Given the description of an element on the screen output the (x, y) to click on. 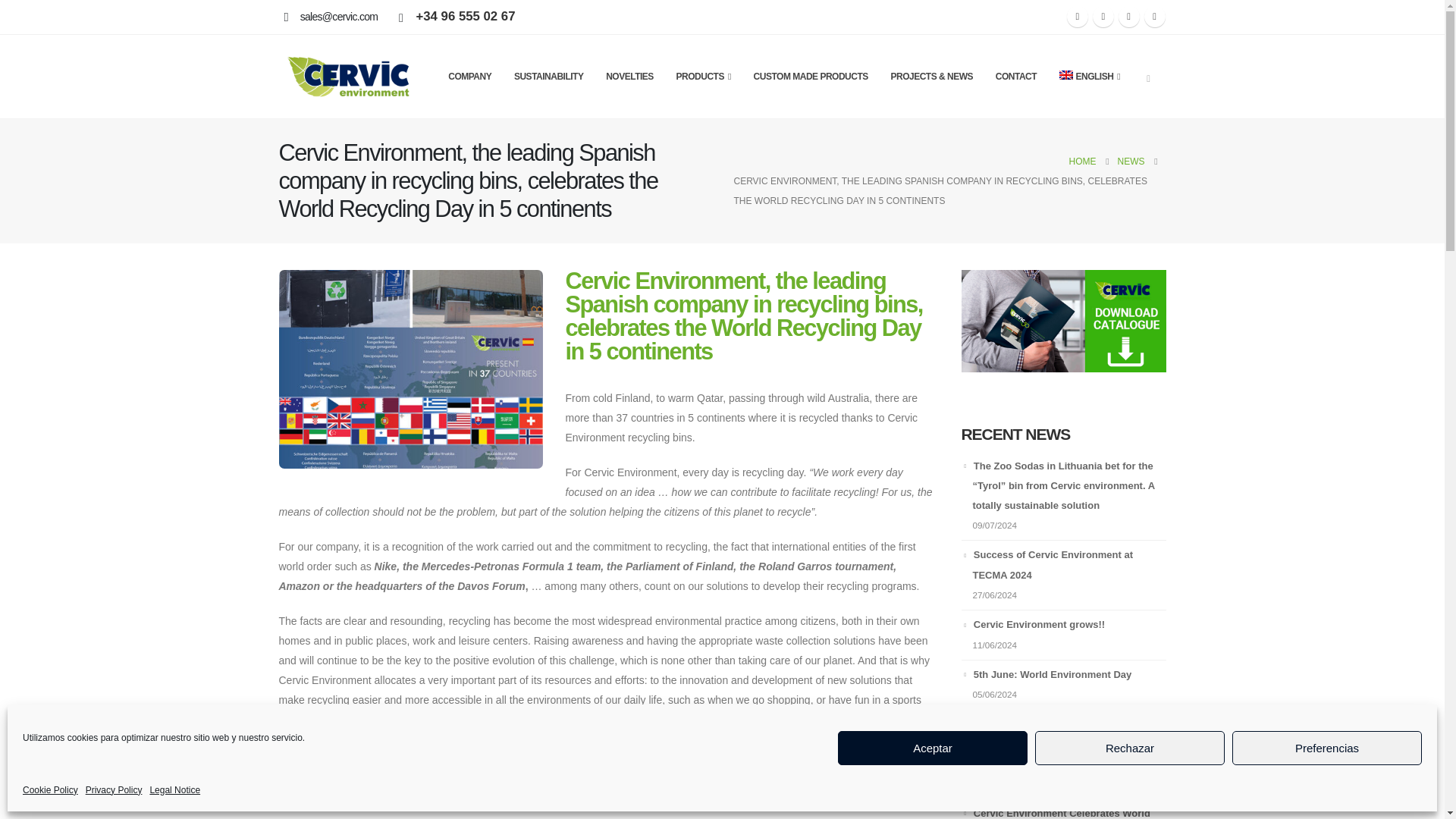
Pinterest (1103, 16)
LinkedIn (1153, 16)
English (1089, 76)
Go to Home Page (1082, 161)
Instagram (1129, 16)
PRODUCTS (703, 76)
SUSTAINABILITY (548, 76)
Facebook (1077, 16)
